Given the description of an element on the screen output the (x, y) to click on. 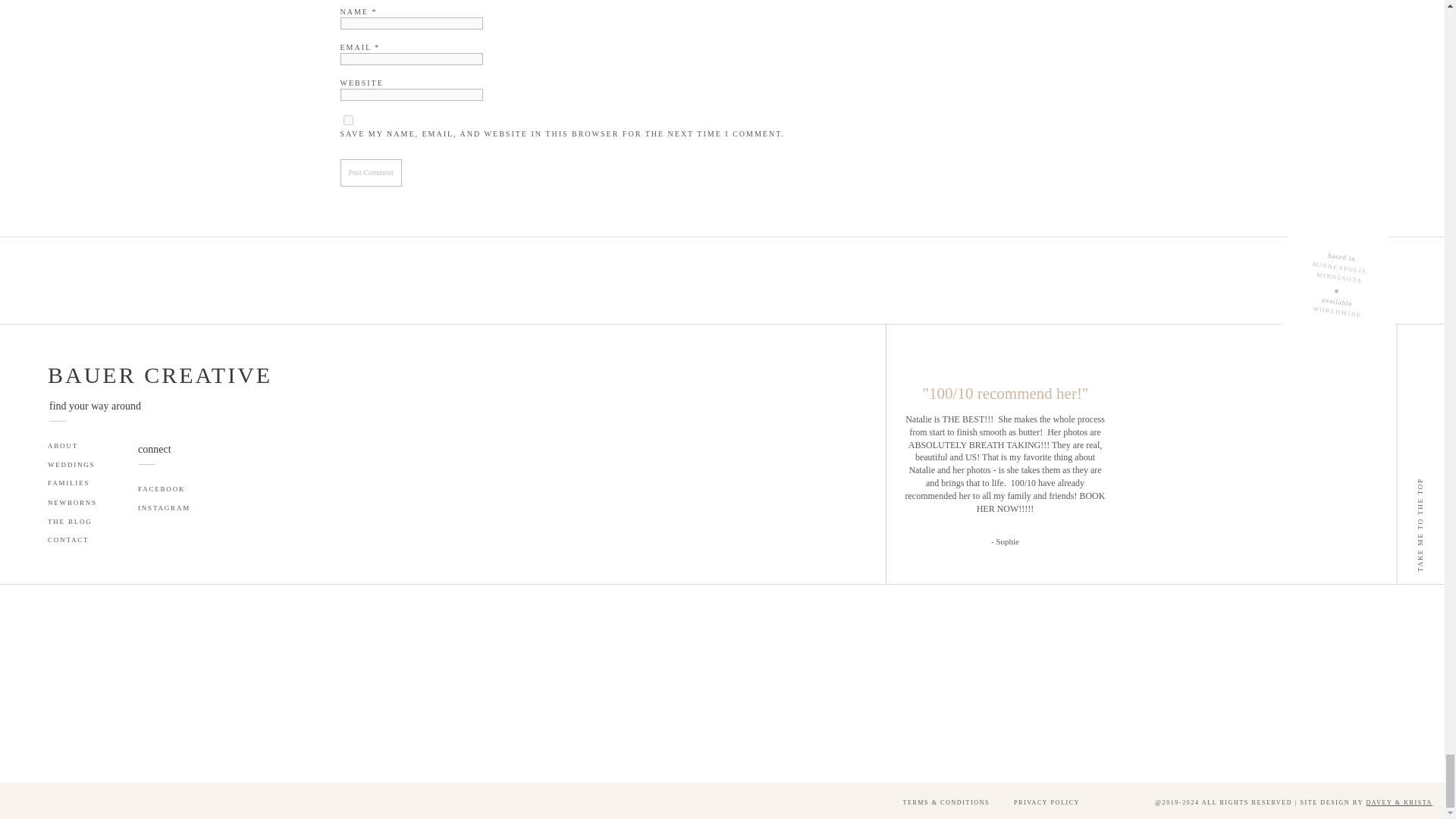
WEDDINGS (76, 465)
yes (347, 120)
FAMILIES (79, 483)
Post Comment (370, 172)
CONTACT (76, 540)
THE BLOG (76, 522)
FACEBOOK (174, 490)
NEWBORNS (82, 503)
Post Comment (370, 172)
ABOUT (89, 446)
